Given the description of an element on the screen output the (x, y) to click on. 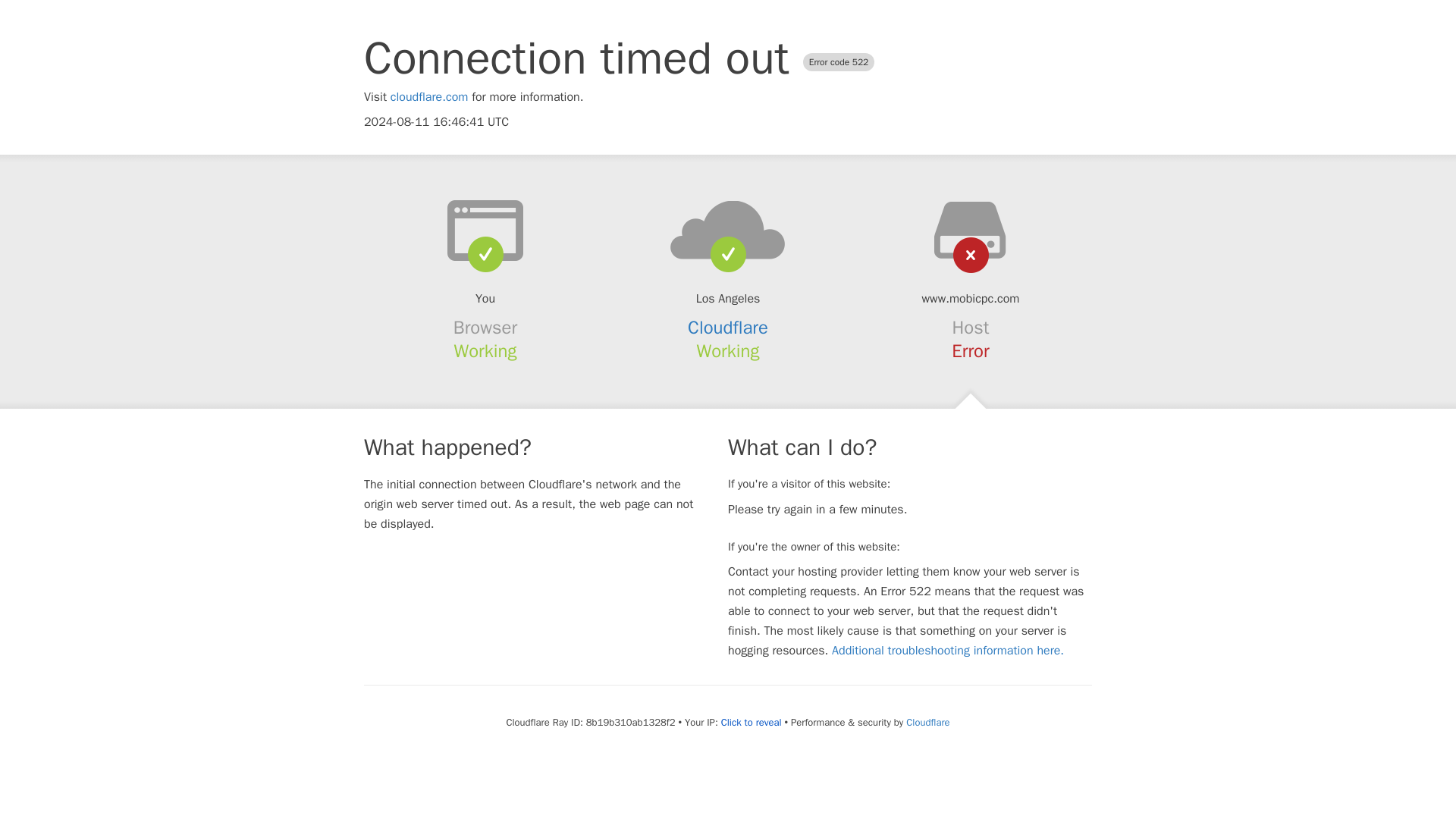
Cloudflare (927, 721)
cloudflare.com (429, 96)
Additional troubleshooting information here. (947, 650)
Click to reveal (750, 722)
Cloudflare (727, 327)
